Given the description of an element on the screen output the (x, y) to click on. 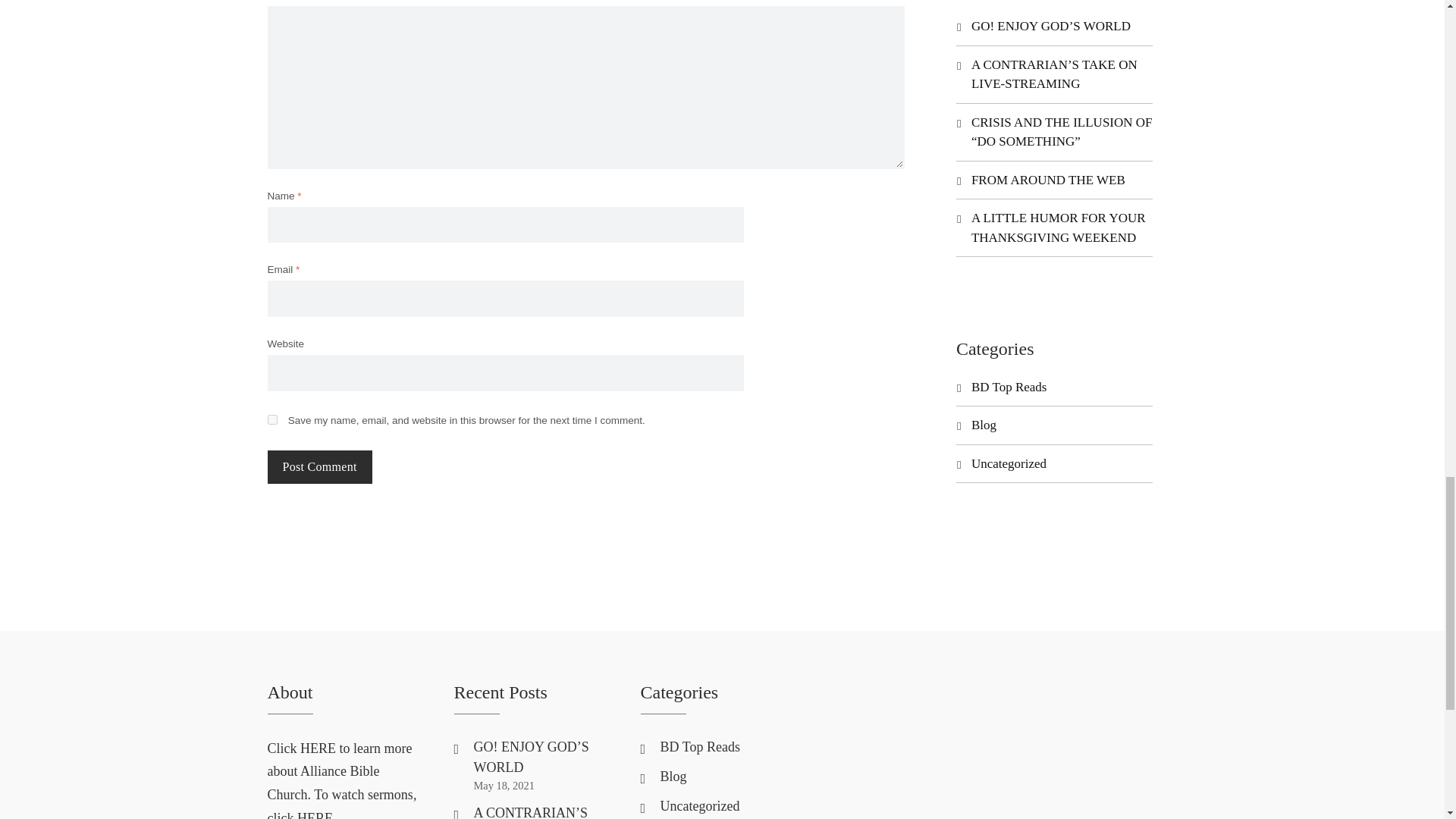
A LITTLE HUMOR FOR YOUR THANKSGIVING WEEKEND (1058, 227)
HERE (315, 814)
yes (271, 419)
Uncategorized (1008, 463)
BD Top Reads (699, 746)
BD Top Reads (1008, 386)
Post Comment (318, 467)
FROM AROUND THE WEB (1048, 179)
Post Comment (318, 467)
Blog (983, 424)
Blog (672, 776)
HERE (317, 748)
